Given the description of an element on the screen output the (x, y) to click on. 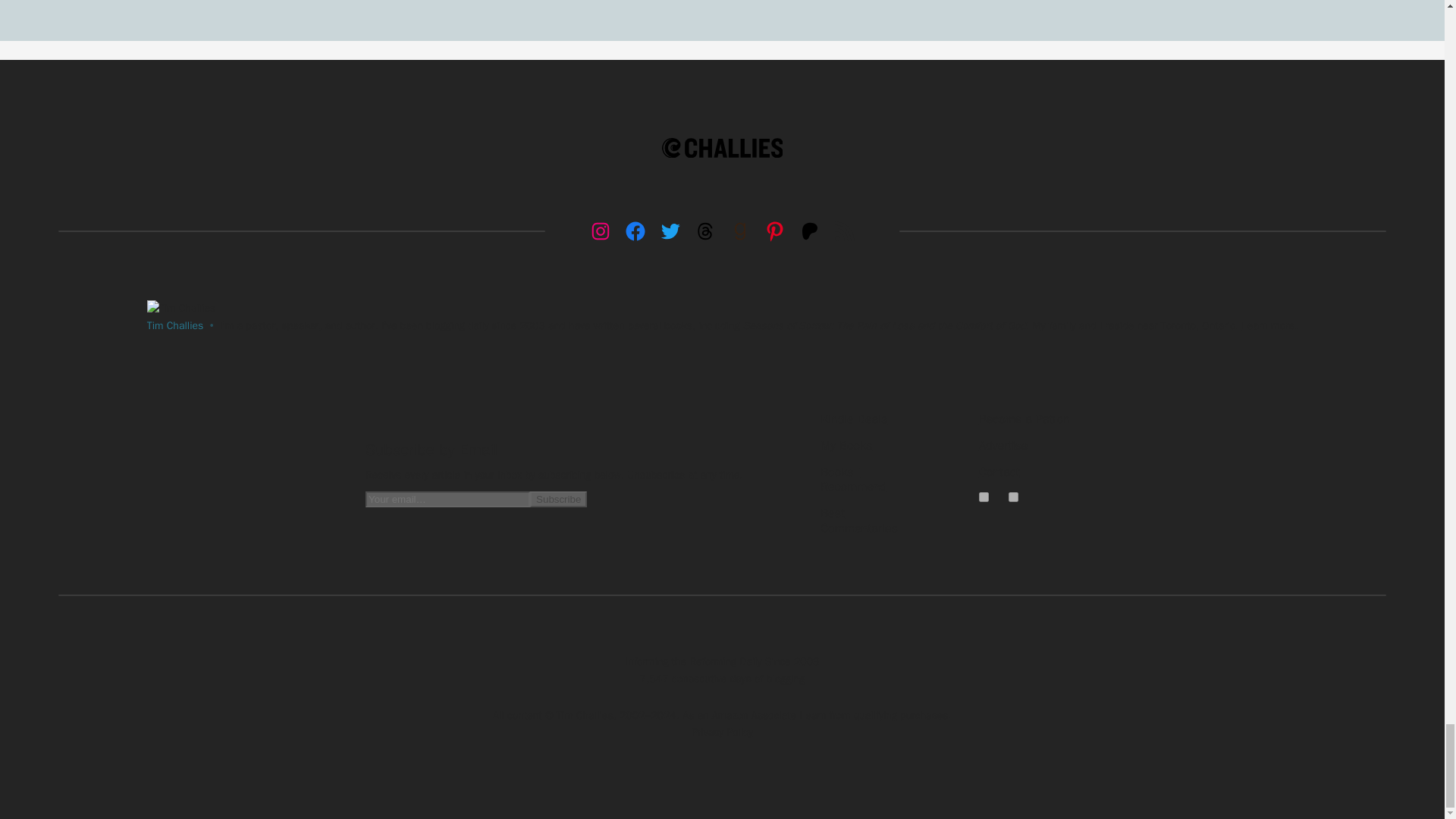
on (1013, 497)
on (983, 497)
Subscribe (557, 498)
Challies logo (722, 148)
